Given the description of an element on the screen output the (x, y) to click on. 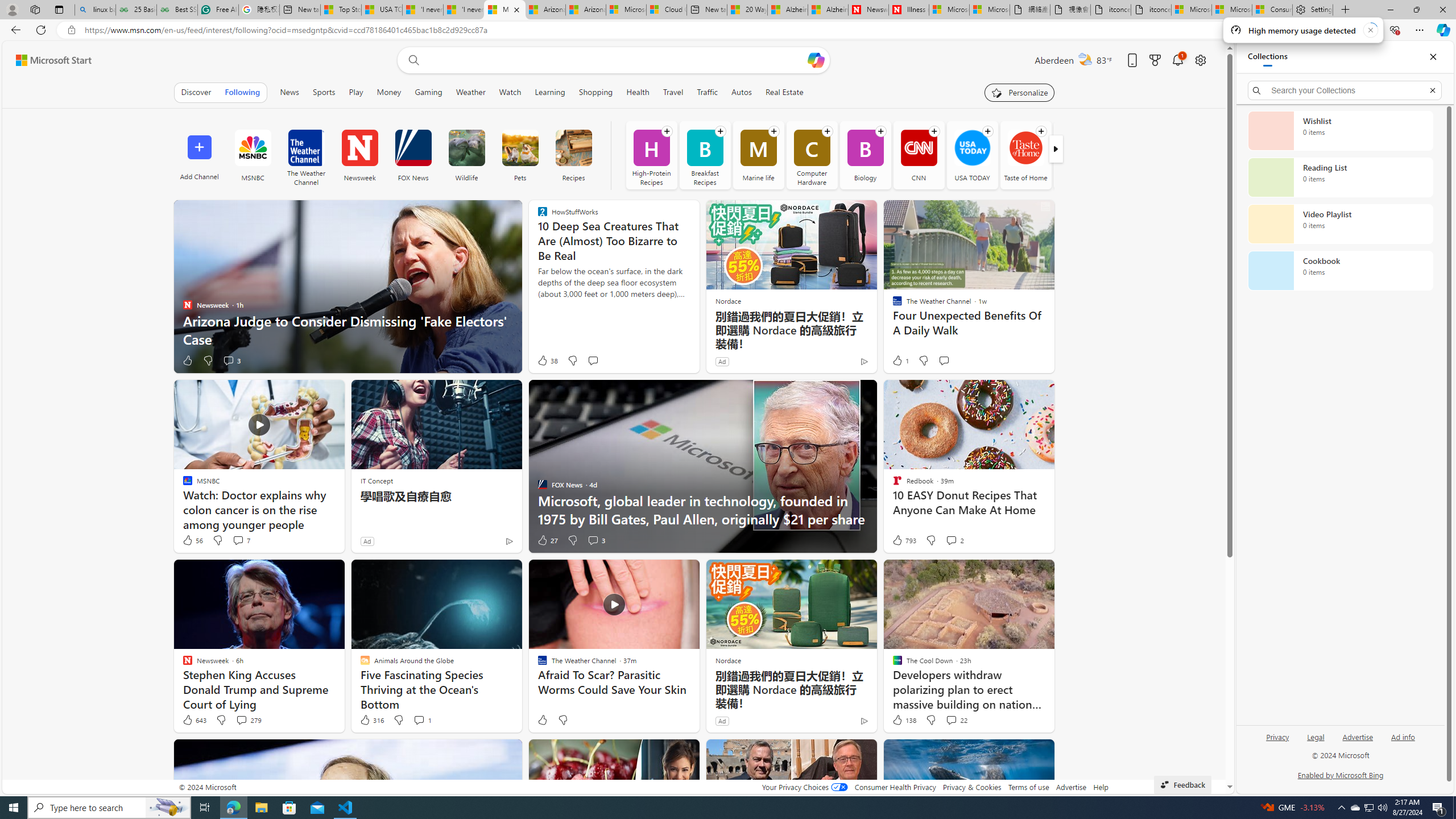
Search your Collections (1345, 90)
Cookbook collection, 0 items (1339, 270)
Like (542, 719)
Consumer Health Privacy (895, 786)
Computer Hardware (811, 155)
Real Estate (784, 92)
Partly cloudy (1085, 59)
Personalize your feed" (1019, 92)
View comments 1 Comment (419, 719)
USA TODAY - MSN (381, 9)
MSNBC (252, 155)
